Given the description of an element on the screen output the (x, y) to click on. 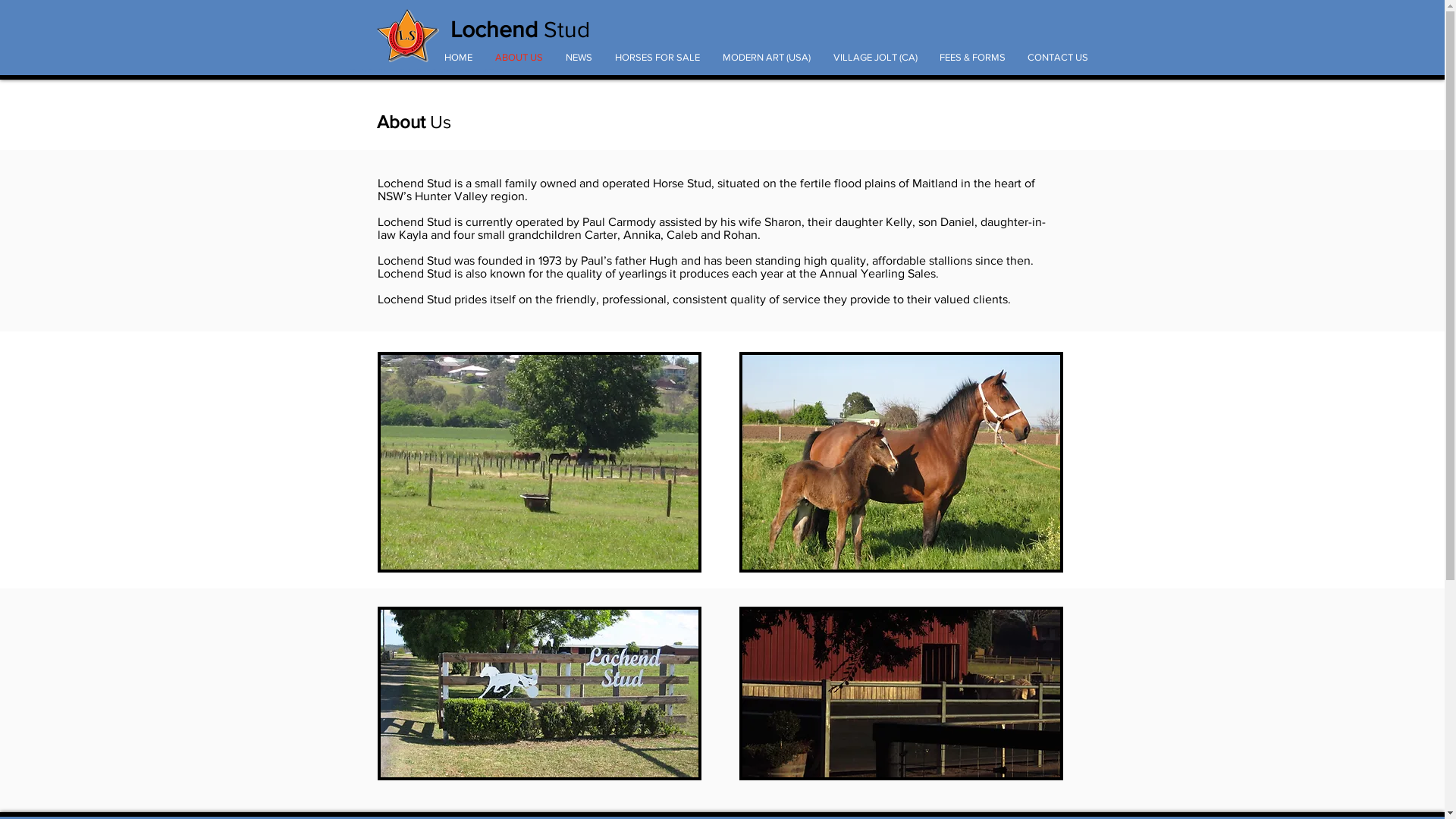
HORSES FOR SALE Element type: text (657, 57)
Lochend Stud Element type: text (519, 29)
FEES & FORMS Element type: text (972, 57)
harness-racing-stud-nsw.jpg Element type: hover (900, 461)
ABOUT US Element type: text (518, 57)
VILLAGE JOLT (CA) Element type: text (875, 57)
HOME Element type: text (457, 57)
Lochend Stud_sm.jpg Element type: hover (539, 461)
NEWS Element type: text (577, 57)
CONTACT US Element type: text (1057, 57)
MODERN ART (USA) Element type: text (766, 57)
